Given the description of an element on the screen output the (x, y) to click on. 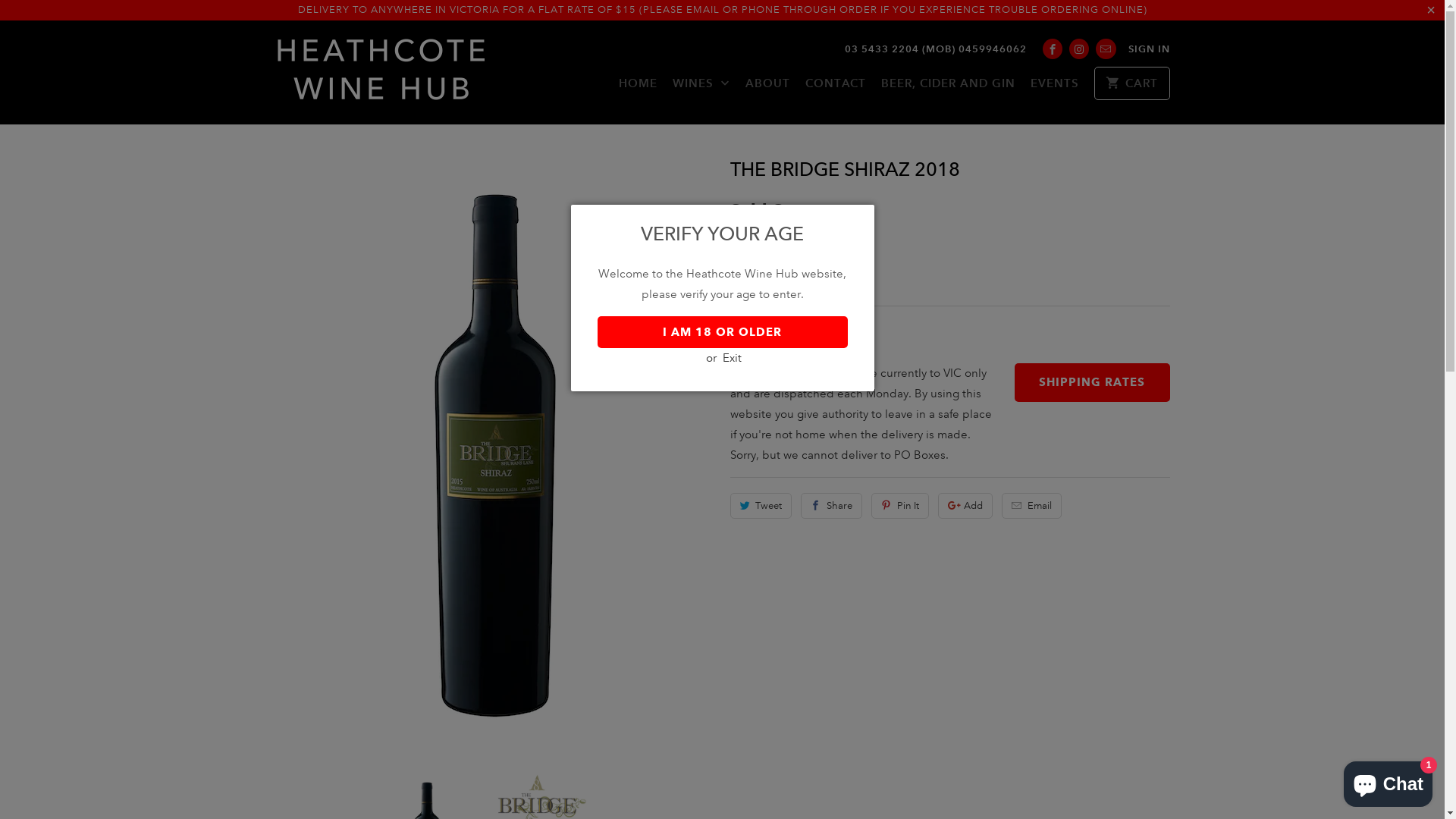
Tweet Element type: text (760, 505)
WINES Element type: text (701, 87)
Exit Element type: text (731, 357)
I AM 18 OR OLDER Element type: text (722, 331)
Pin It Element type: text (899, 505)
CART Element type: text (1131, 83)
SHIPPING RATES Element type: text (1092, 382)
HOME Element type: text (637, 87)
03 5433 2204 (MOB) 0459946062 Element type: text (935, 48)
Share Element type: text (831, 505)
EVENTS Element type: text (1054, 87)
SIGN IN Element type: text (1149, 48)
Email Element type: text (1031, 505)
Heathcote Wine Hub on Facebook Element type: hover (1052, 48)
ABOUT Element type: text (767, 87)
Add Element type: text (965, 505)
Heathcote Wine Hub on Instagram Element type: hover (1078, 48)
Shopify online store chat Element type: hover (1388, 780)
BEER, CIDER AND GIN Element type: text (948, 87)
Email Heathcote Wine Hub Element type: hover (1105, 48)
Heathcote Wine Hub Element type: hover (380, 71)
CONTACT Element type: text (835, 87)
